Given the description of an element on the screen output the (x, y) to click on. 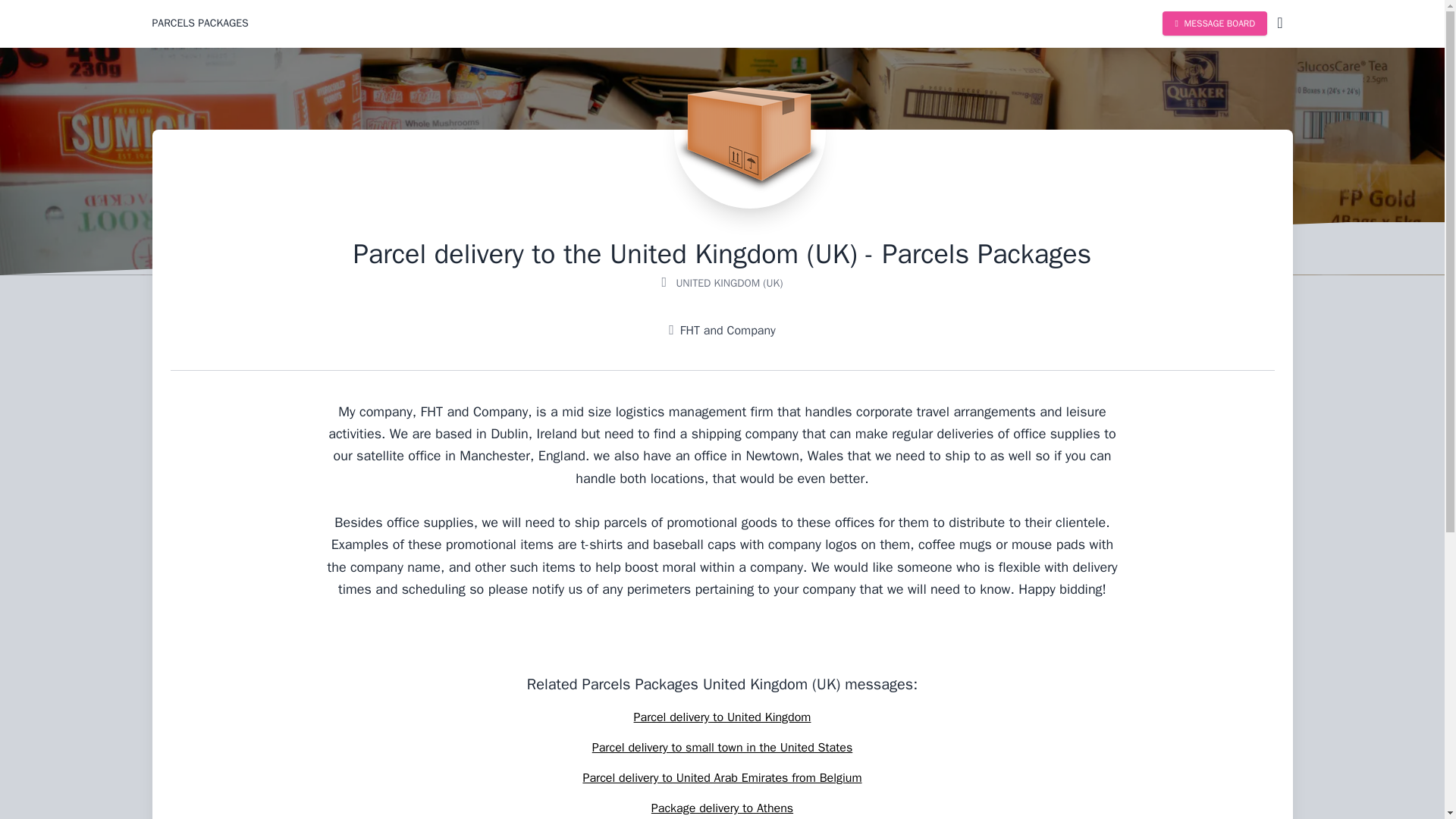
PARCELS PACKAGES (199, 23)
MESSAGE BOARD (1213, 23)
Parcel delivery to United Arab Emirates from Belgium (721, 777)
Parcel delivery to small town in the United States (721, 747)
Package delivery to Athens (721, 807)
Parcel delivery to United Kingdom (721, 717)
